Given the description of an element on the screen output the (x, y) to click on. 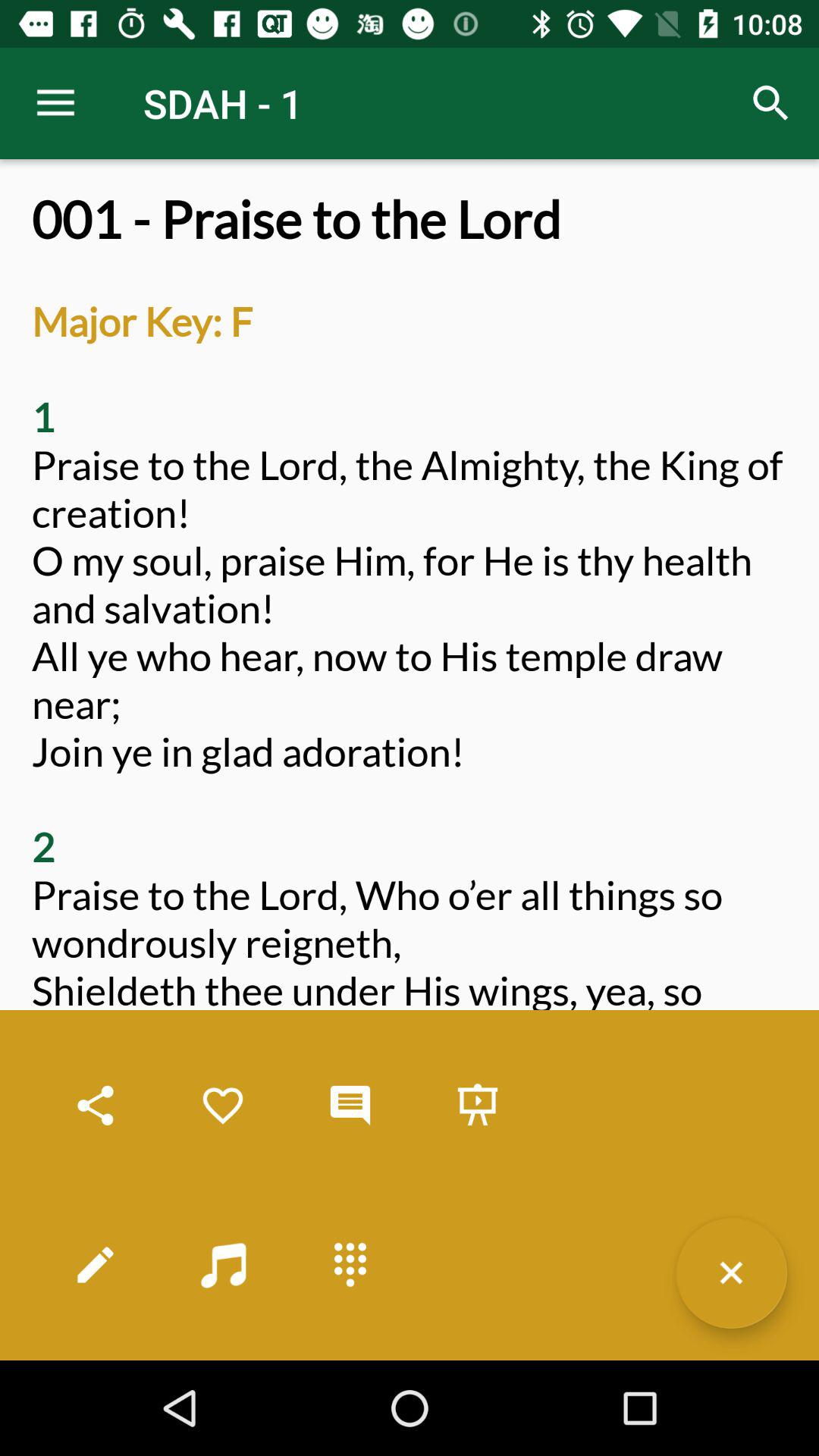
close menu (731, 1272)
